Given the description of an element on the screen output the (x, y) to click on. 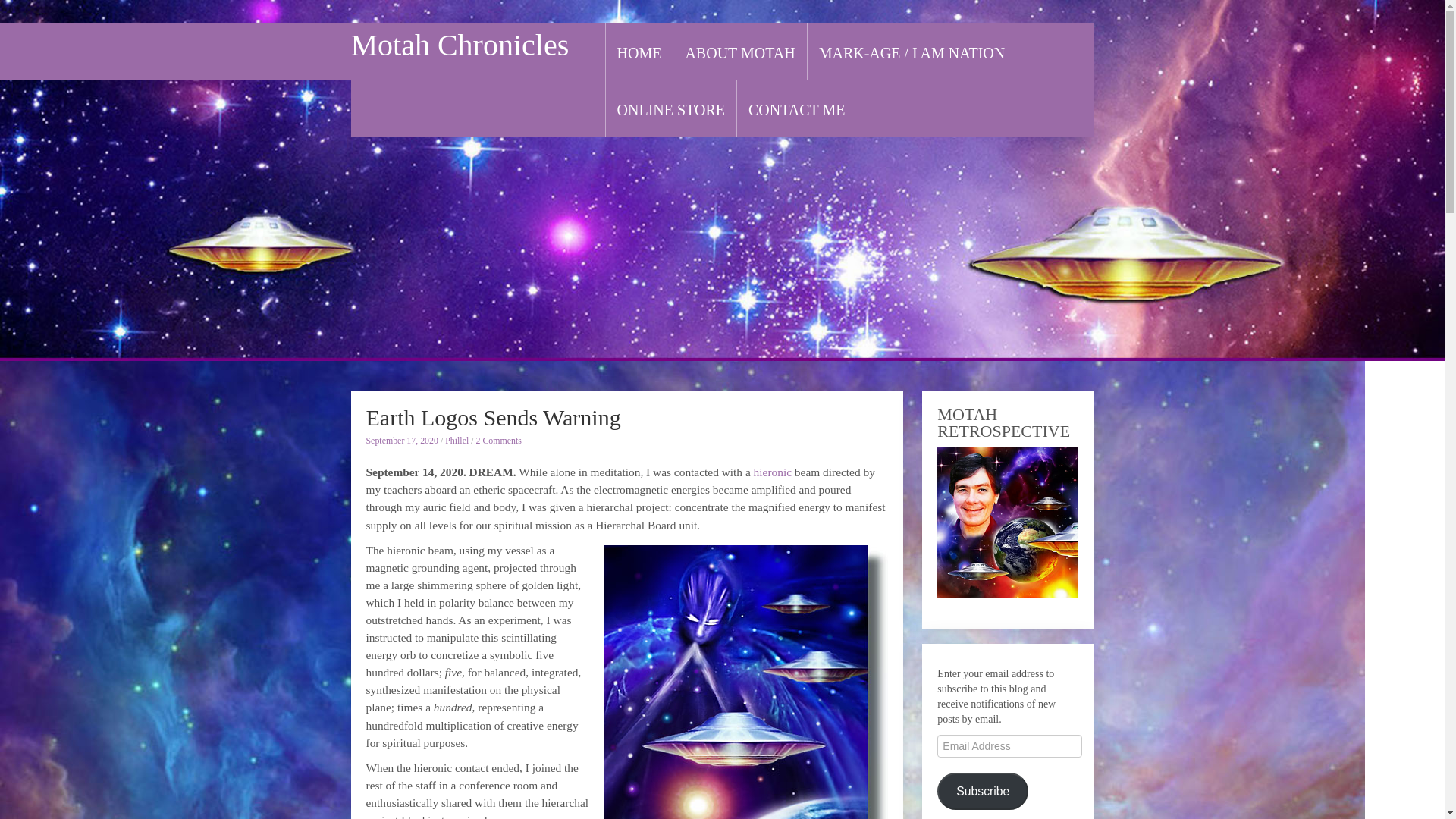
Permalink to Earth Logos Sends Warning (492, 416)
2 Comments (498, 439)
ONLINE STORE (671, 109)
CONTACT ME (796, 109)
Motah Chronicles (459, 44)
Motah Chronicles (459, 44)
1:32 pm (401, 439)
September 17, 2020 (401, 439)
View all posts by Phillel (456, 439)
Phillel (456, 439)
